Given the description of an element on the screen output the (x, y) to click on. 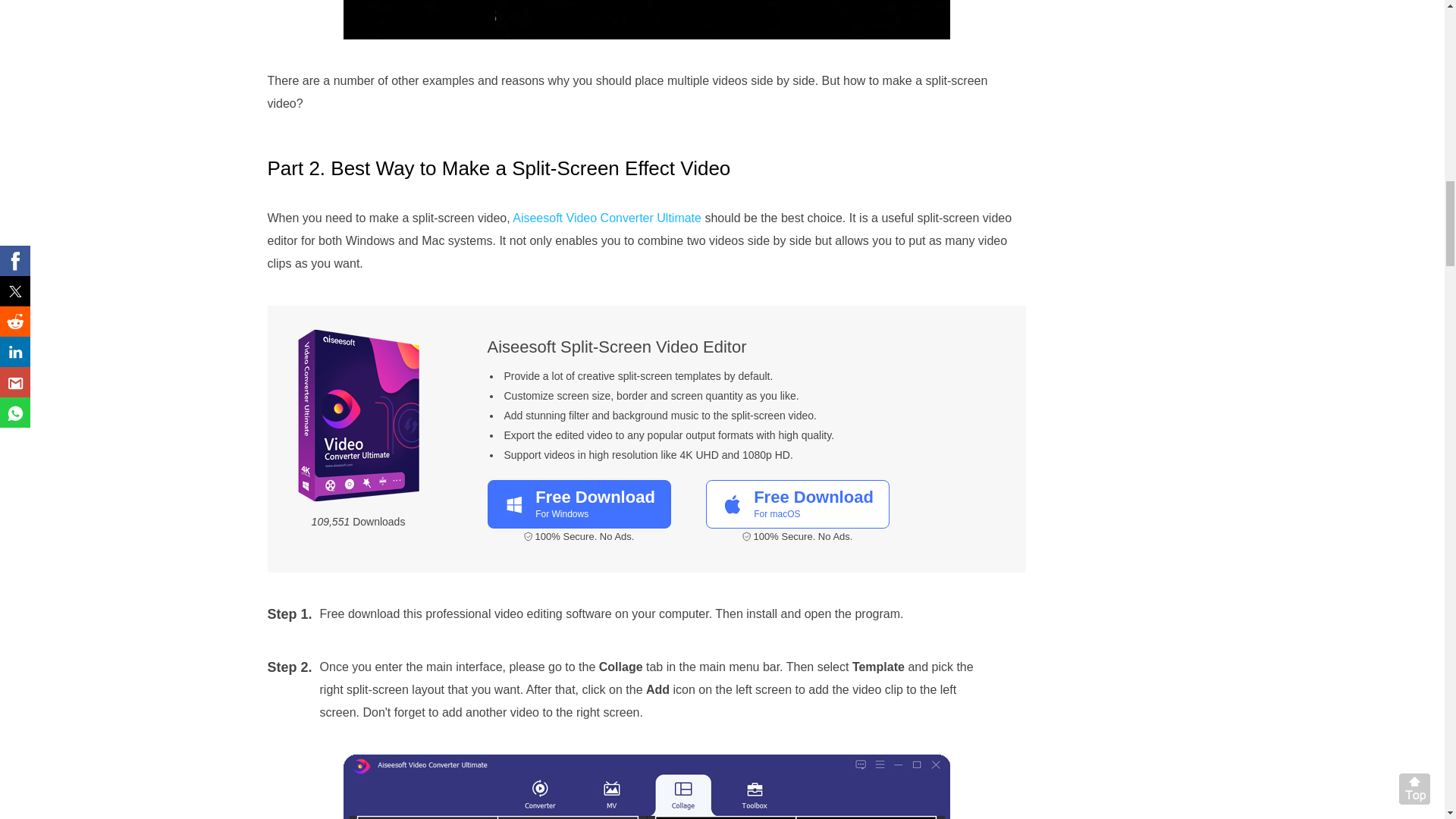
Aiseesoft Split-Screen Video Editor (615, 346)
Aiseesoft Video Converter Ultimate (577, 503)
